Given the description of an element on the screen output the (x, y) to click on. 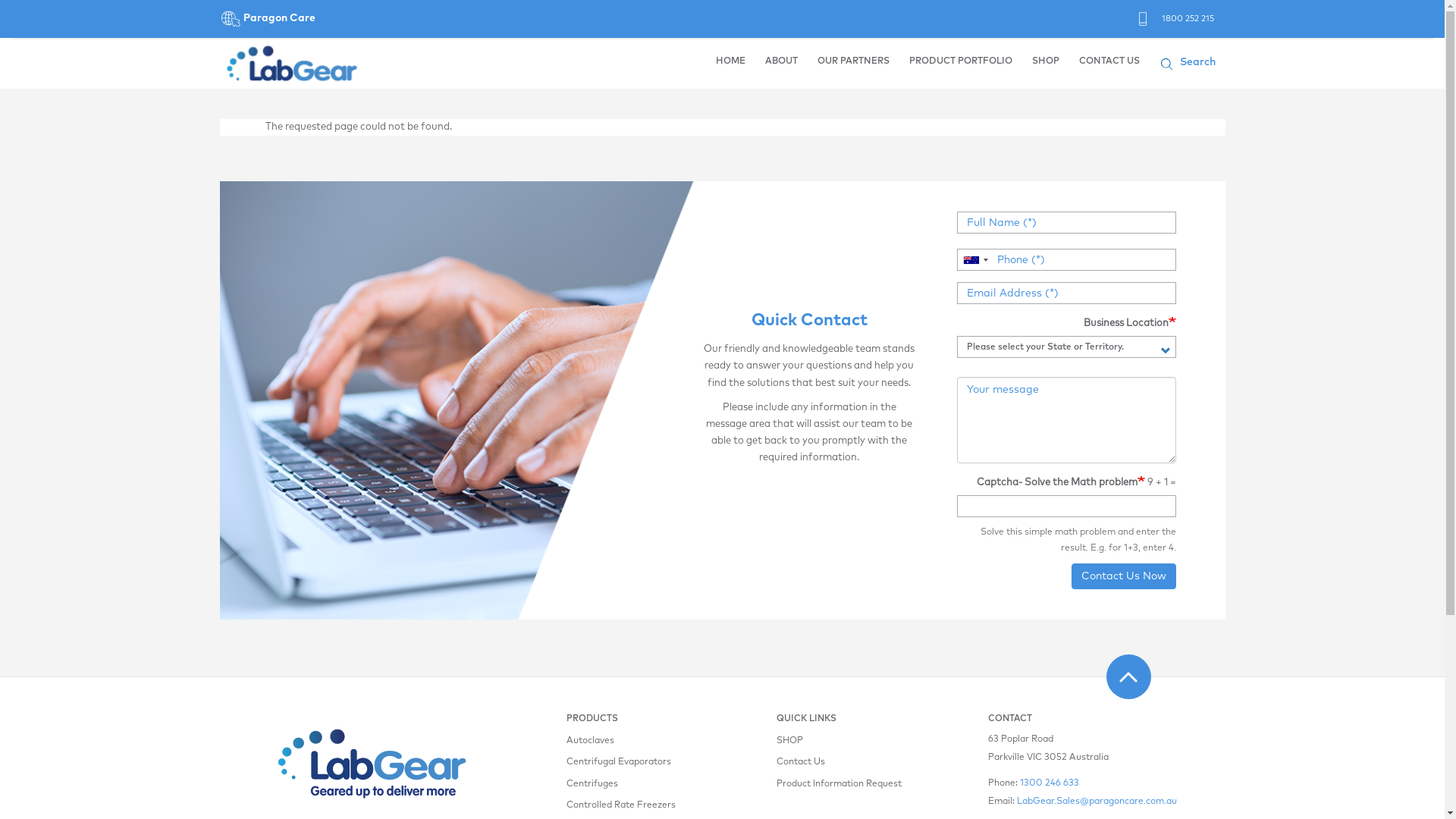
Home Element type: hover (291, 64)
Skip to main content Element type: text (0, 88)
Autoclaves Element type: text (628, 740)
CONTACT US Element type: text (1109, 62)
Controlled Rate Freezers Element type: text (628, 804)
Contact Us Now Element type: text (1122, 576)
Centrifugal Evaporators Element type: text (628, 761)
Centrifuges Element type: text (628, 783)
OUR PARTNERS Element type: text (852, 62)
1300 246 633 Element type: text (1049, 782)
1800 252 215 Element type: text (1187, 18)
Product Information Request Element type: text (838, 783)
Australia: +61 Element type: hover (974, 259)
LabGear.Sales@paragoncare.com.au Element type: text (1096, 801)
ABOUT Element type: text (781, 62)
Contact Us Element type: text (838, 761)
HOME Element type: text (729, 62)
PRODUCT PORTFOLIO Element type: text (960, 62)
Paragon Care Element type: text (268, 18)
Search Element type: text (1202, 64)
SHOP Element type: text (838, 740)
SHOP Element type: text (1045, 62)
